Given the description of an element on the screen output the (x, y) to click on. 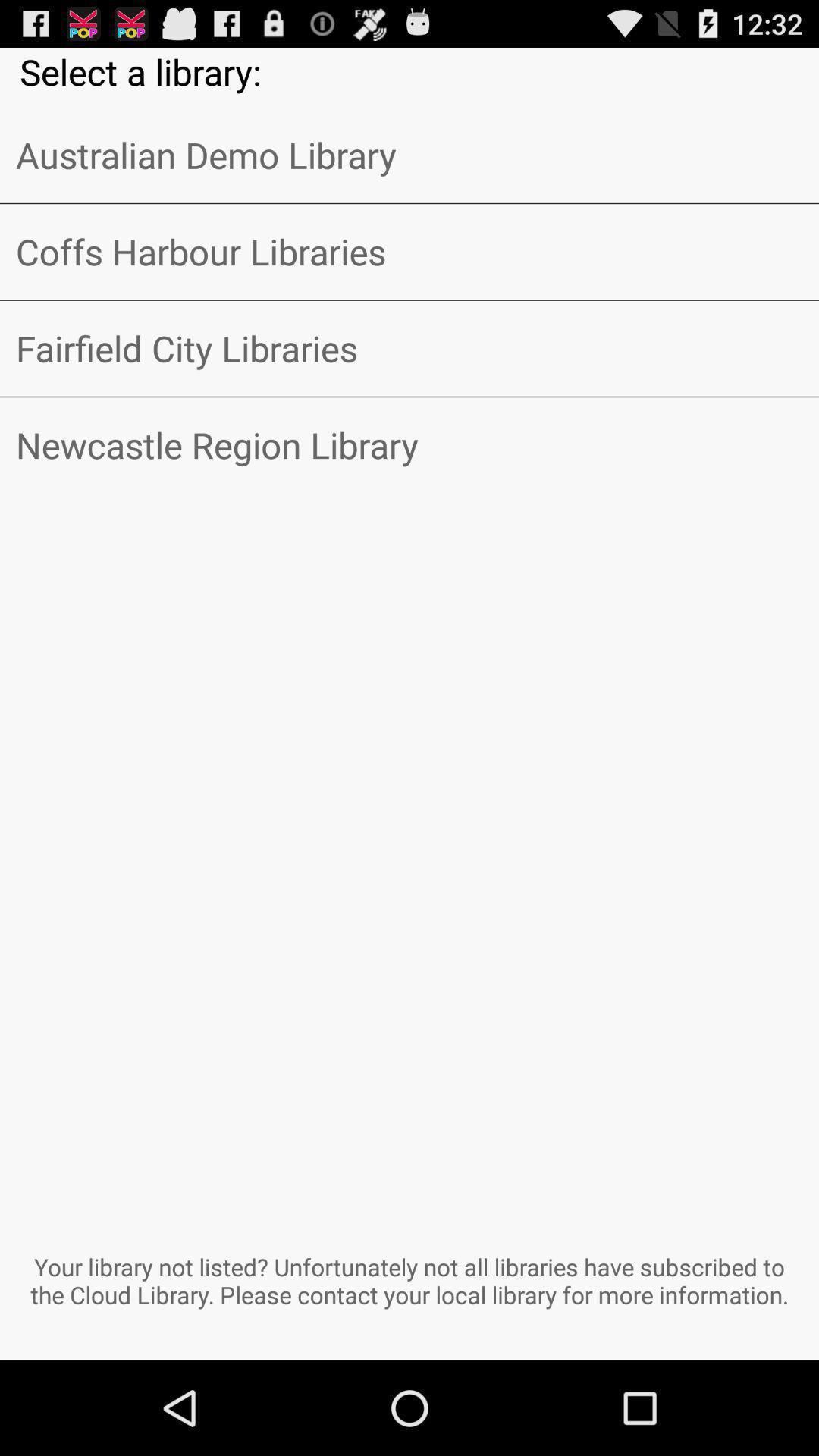
scroll to fairfield city libraries (409, 348)
